Given the description of an element on the screen output the (x, y) to click on. 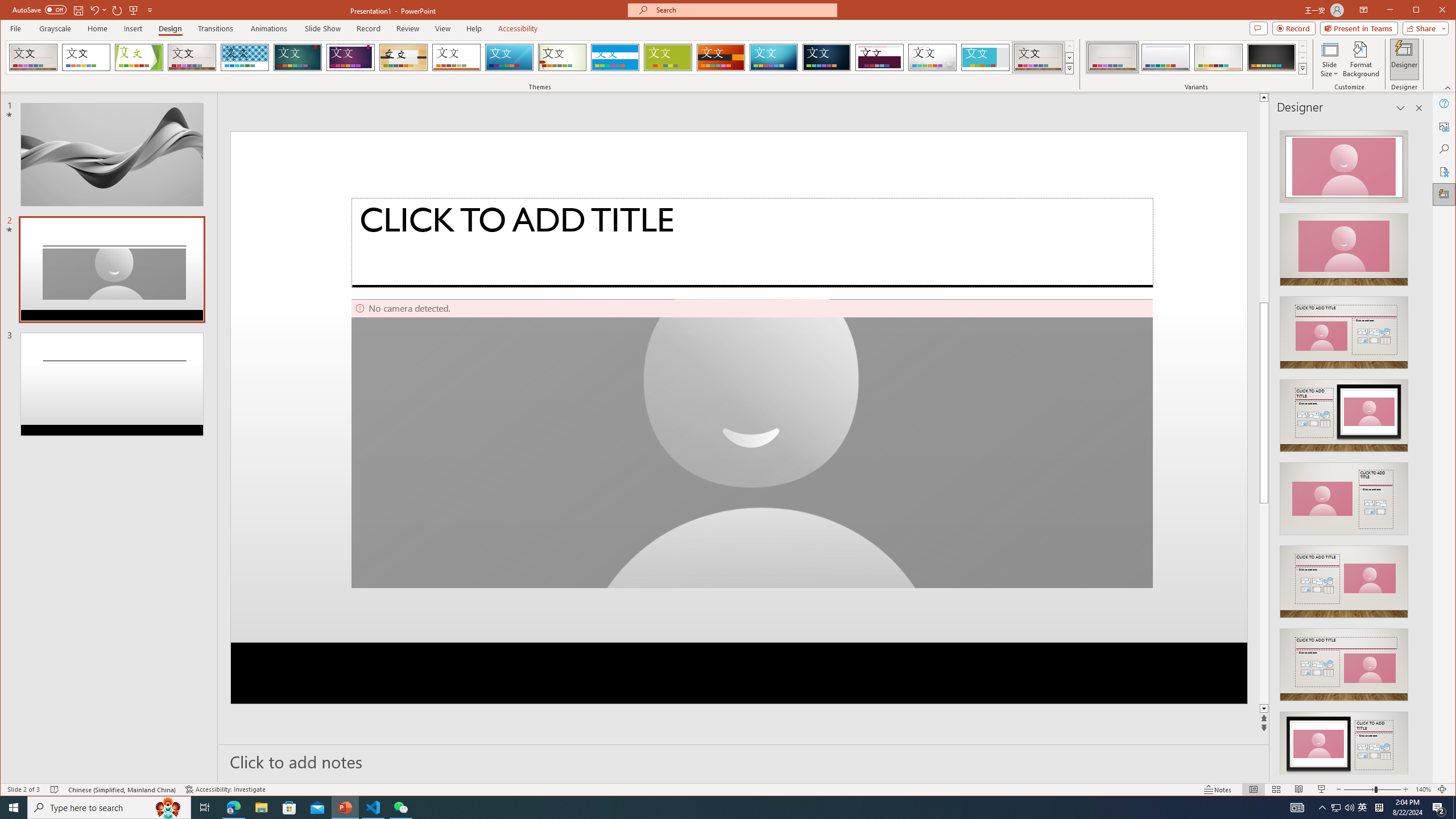
Slide Notes (744, 761)
Droplet (932, 57)
Microsoft Edge - 1 running window (233, 807)
Designer (1404, 59)
User Promoted Notification Area (1335, 807)
Visual Studio Code - 1 running window (1342, 807)
Basis (373, 807)
Title TextBox (668, 57)
AutomationID: ThemeVariantsGallery (751, 242)
